Given the description of an element on the screen output the (x, y) to click on. 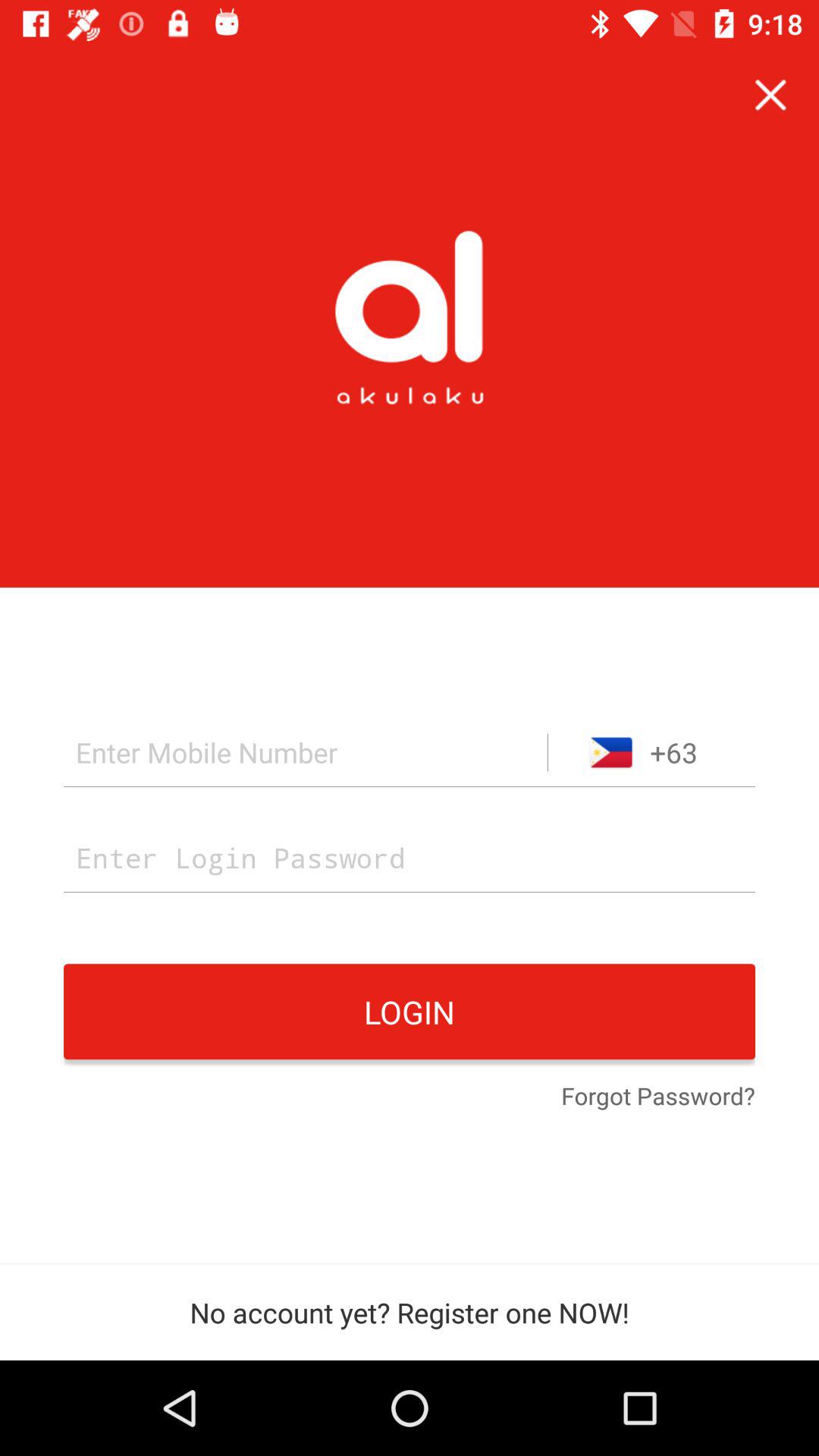
turn on icon at the bottom right corner (658, 1097)
